Given the description of an element on the screen output the (x, y) to click on. 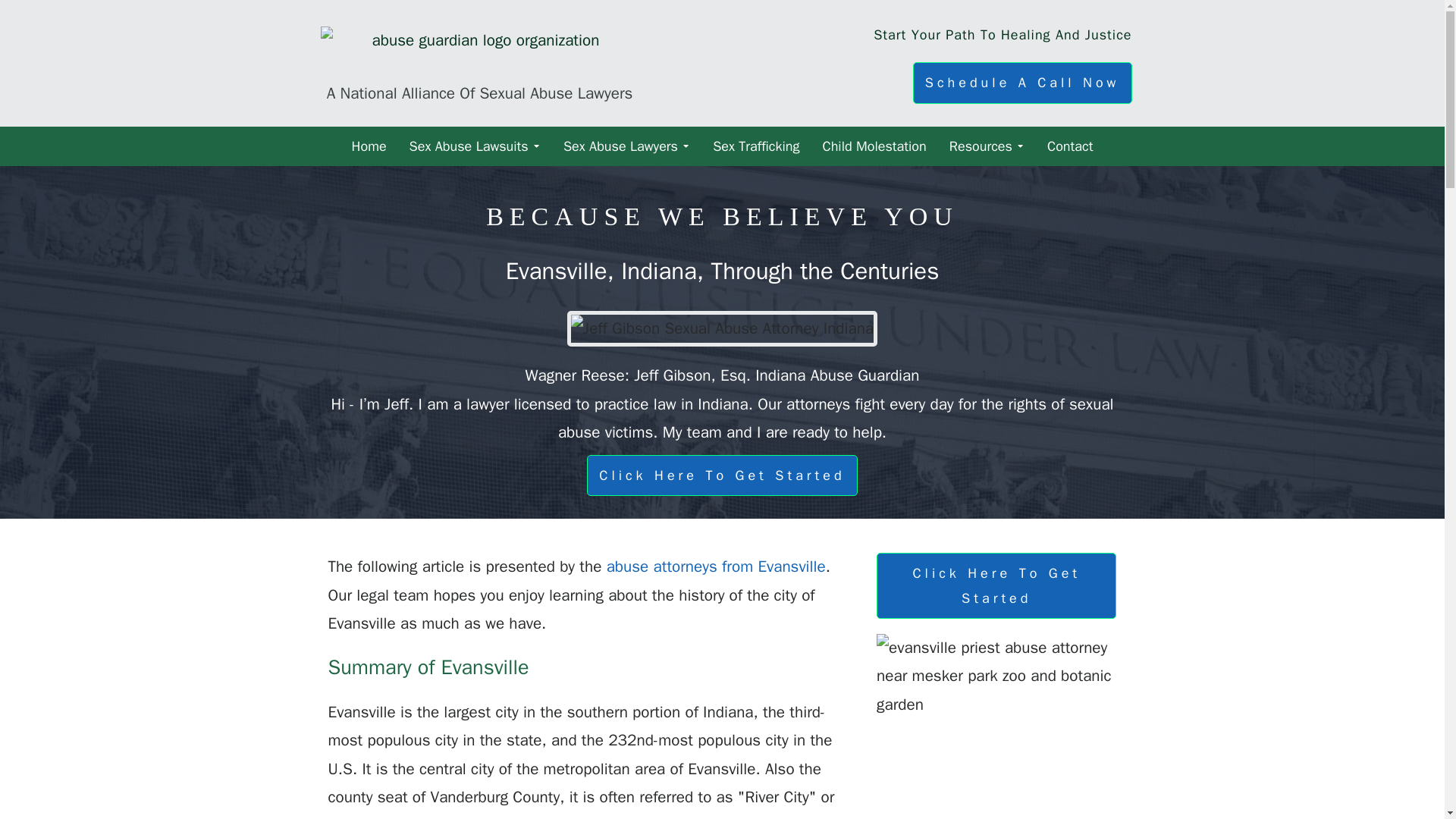
Sex Abuse Lawsuits (475, 146)
Sex Abuse Lawyers (626, 146)
A National Alliance Of Sexual Abuse Lawyers (479, 62)
Schedule A Call Now (1022, 82)
Home (368, 146)
